Given the description of an element on the screen output the (x, y) to click on. 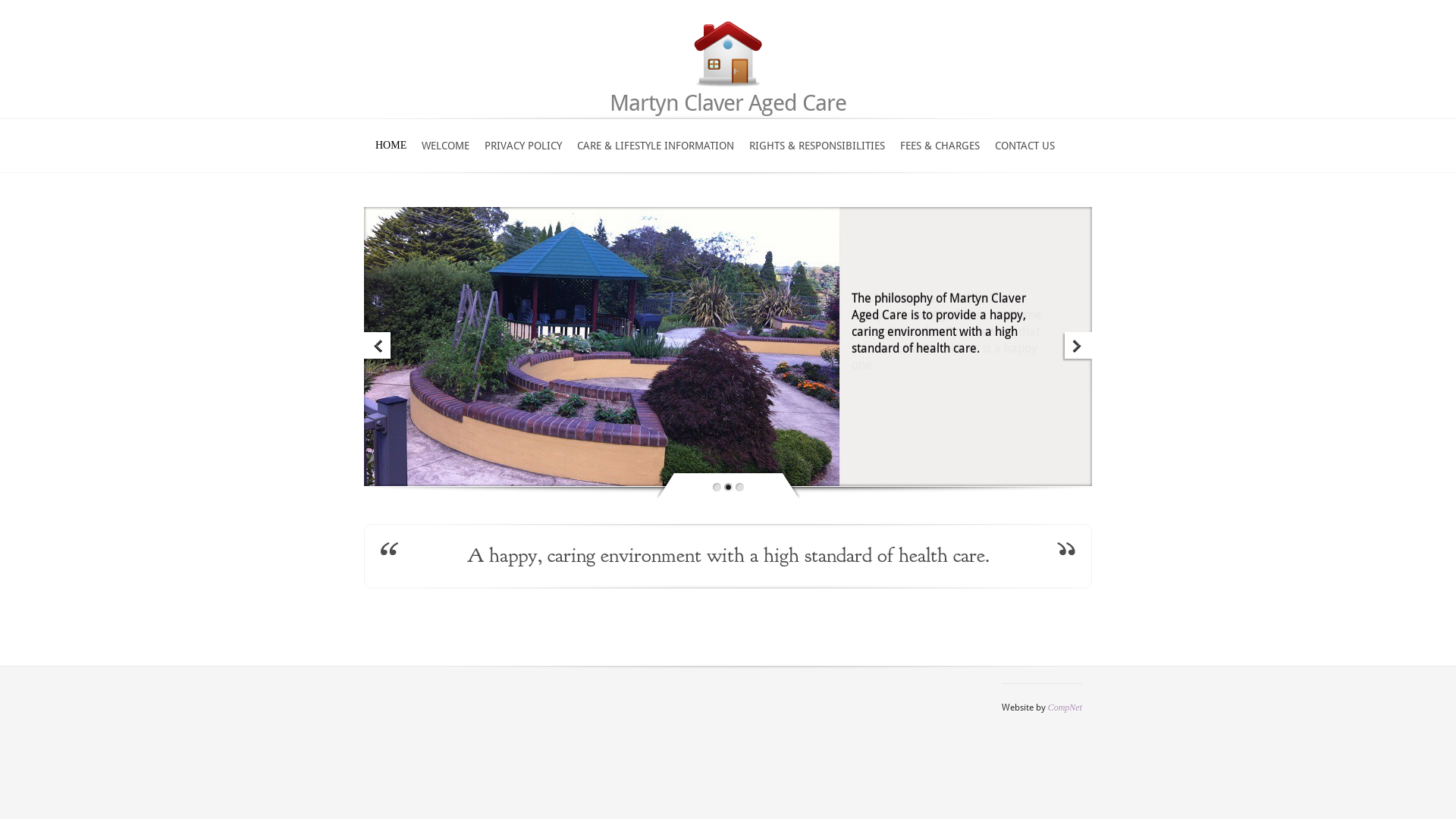
CARE & LIFESTYLE INFORMATION Element type: text (655, 155)
2 Element type: text (728, 498)
Martyn Claver Aged Care Element type: text (727, 102)
3 Element type: text (741, 498)
Next Element type: text (1077, 346)
1 Element type: text (714, 498)
PRIVACY POLICY Element type: text (522, 155)
RIGHTS & RESPONSIBILITIES Element type: text (816, 155)
FEES & CHARGES Element type: text (939, 155)
CompNet Element type: text (1065, 707)
0 Element type: text (716, 487)
2 Element type: text (739, 487)
HOME Element type: text (390, 155)
Previous Element type: text (378, 346)
1 Element type: text (727, 487)
WELCOME Element type: text (445, 155)
CONTACT US Element type: text (1024, 155)
